Given the description of an element on the screen output the (x, y) to click on. 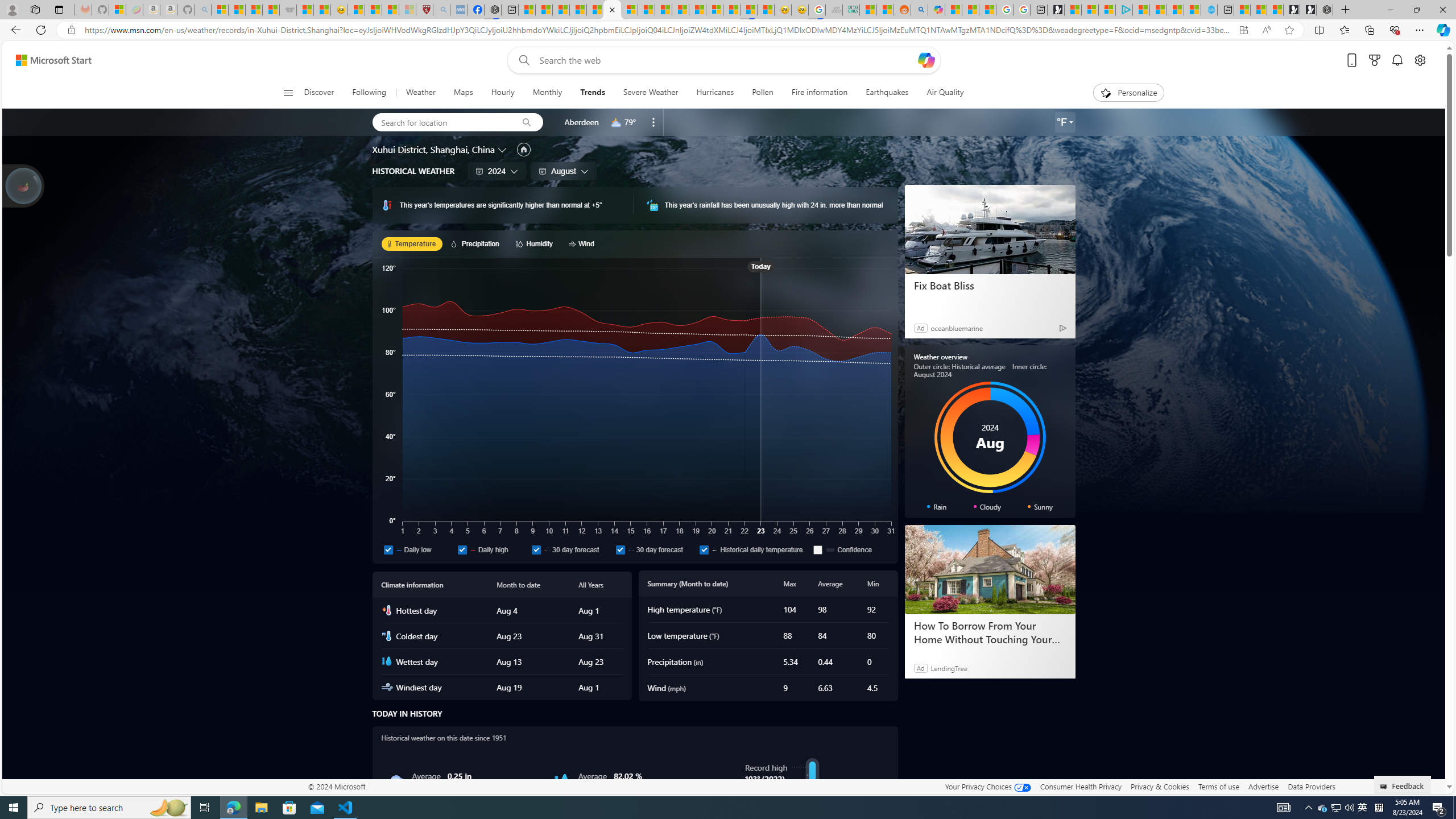
Air Quality (944, 92)
Trends (592, 92)
Humidity (536, 243)
Data Providers (1311, 785)
Confidence (817, 549)
Remove location (653, 122)
